Given the description of an element on the screen output the (x, y) to click on. 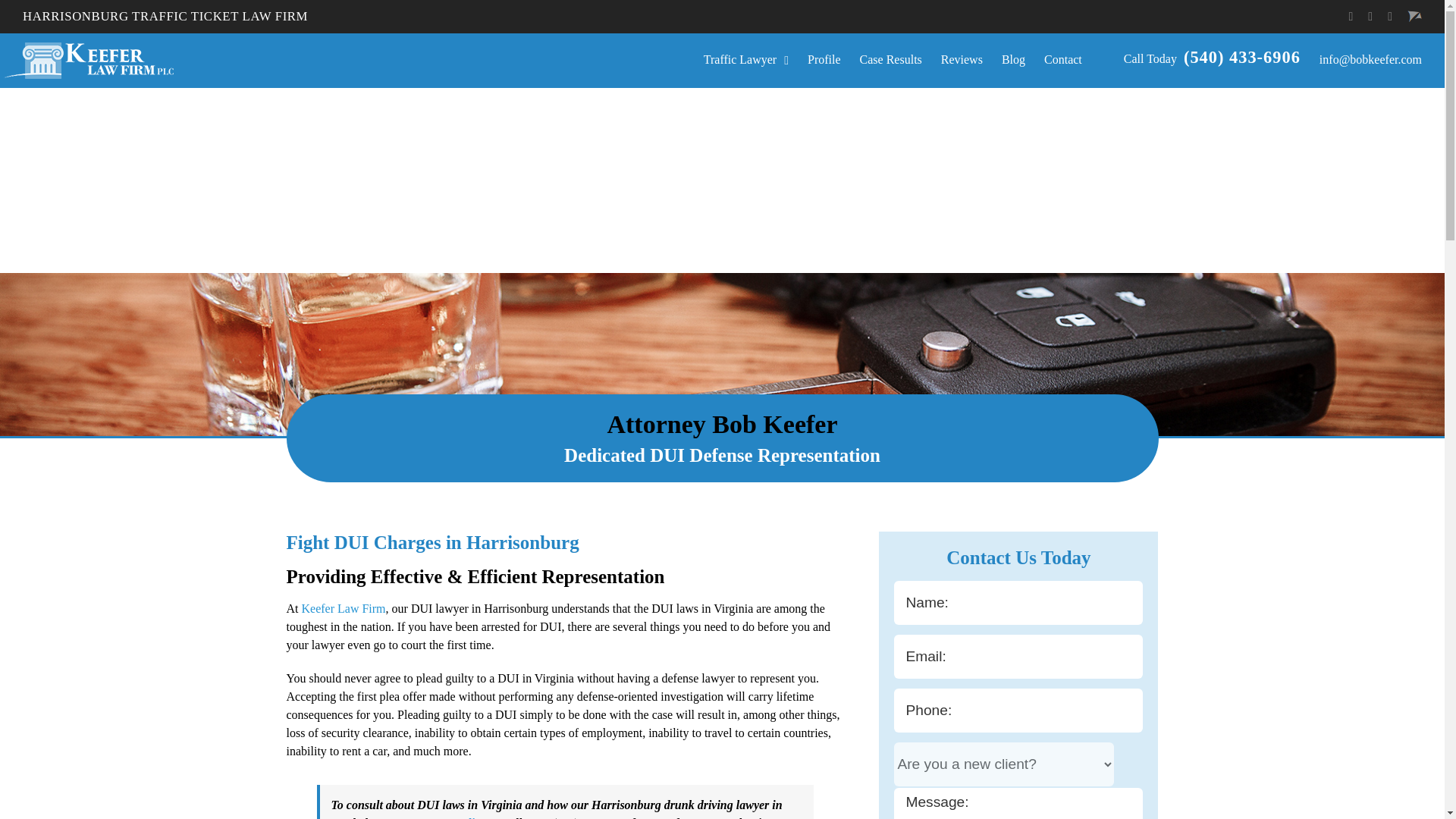
Avvo (1414, 16)
Keefer Law Firm (343, 608)
Avvo (1414, 16)
contact us online (443, 817)
Traffic Lawyer (746, 59)
Case Results (890, 59)
